Given the description of an element on the screen output the (x, y) to click on. 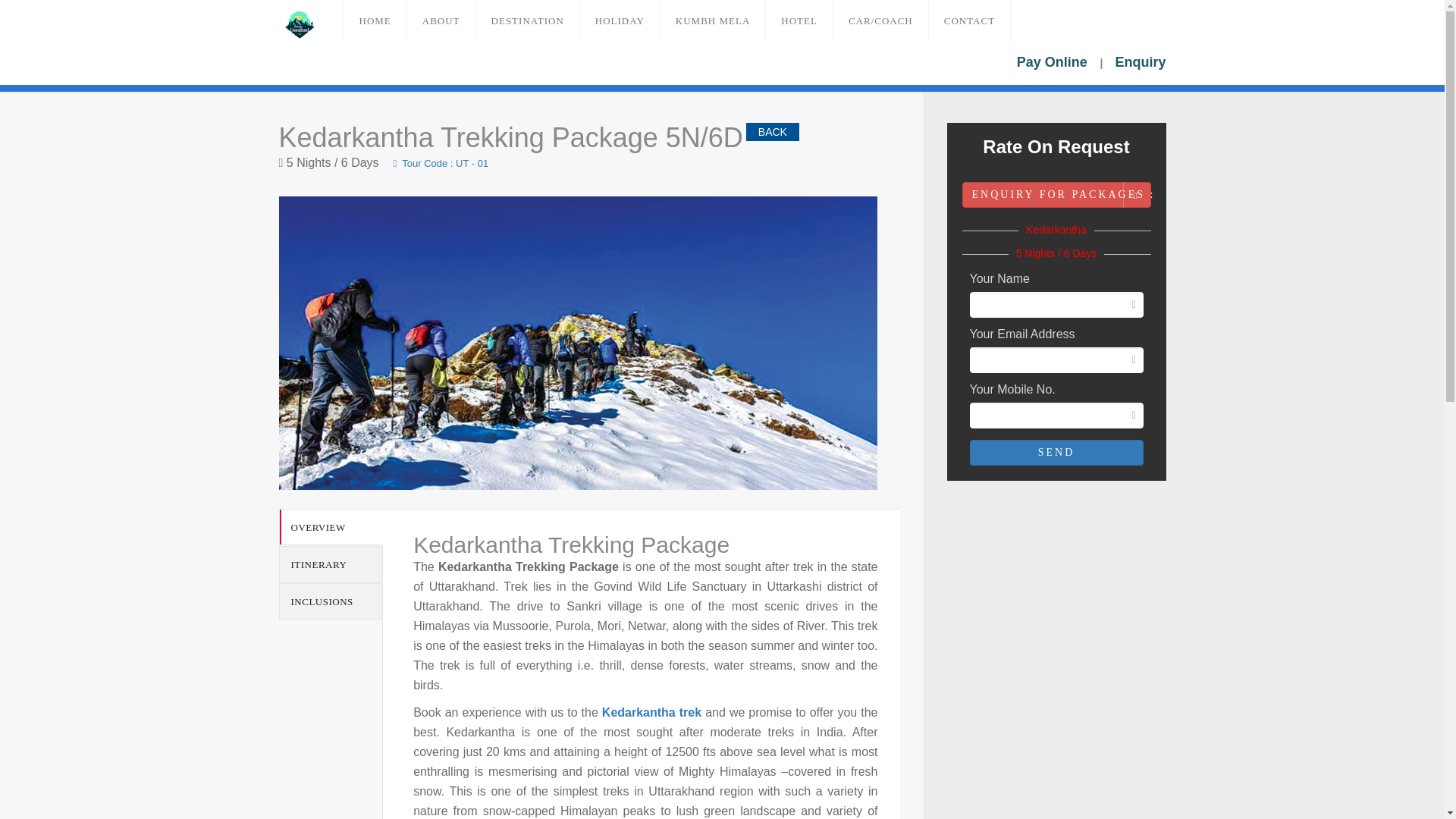
DESTINATION (527, 21)
HOLIDAY (620, 21)
Pay Online (1053, 63)
CONTACT (969, 21)
HOME (375, 21)
Enquiry (1140, 63)
HOTEL (798, 21)
ABOUT (441, 21)
KUMBH MELA (713, 21)
